Given the description of an element on the screen output the (x, y) to click on. 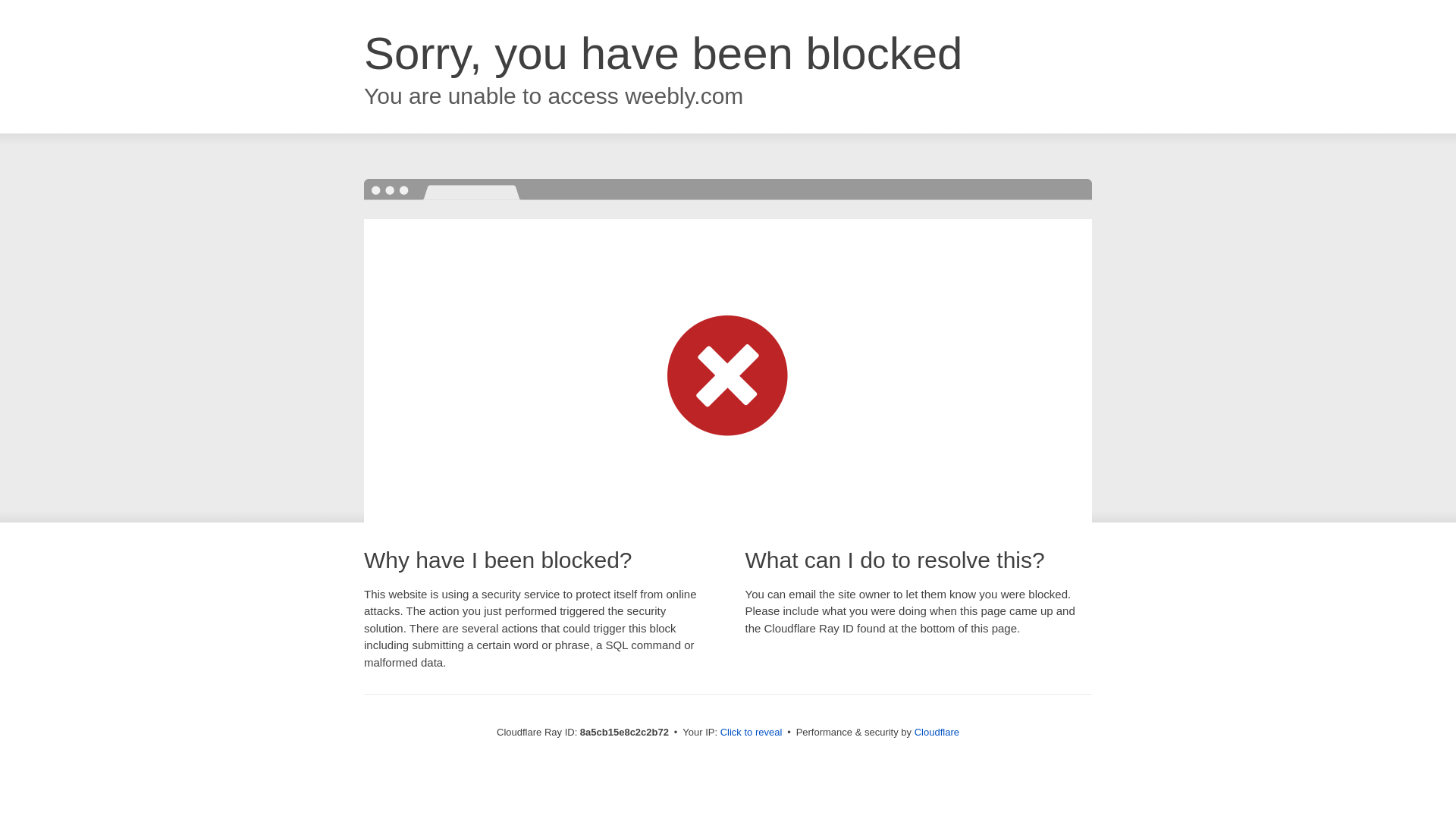
Cloudflare (936, 731)
Click to reveal (751, 732)
